Given the description of an element on the screen output the (x, y) to click on. 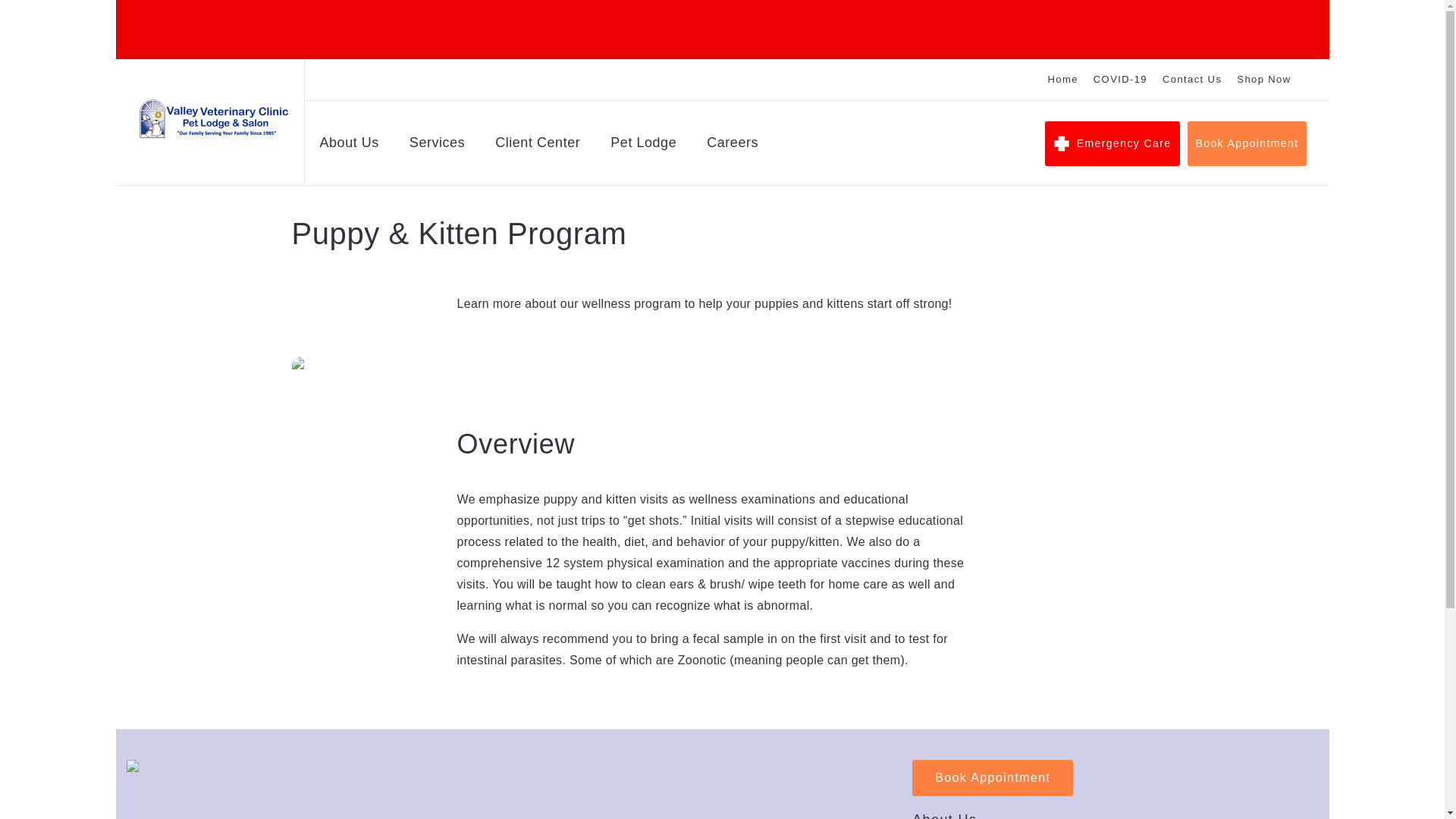
Contact Us (1191, 79)
COVID-19 (1120, 79)
Shop Now (1263, 79)
Pet Lodge (643, 145)
Home (1063, 79)
About Us (944, 816)
Book Appointment (992, 778)
Logo (213, 118)
Careers (732, 145)
Services (436, 145)
Client Center (537, 145)
Emergency Care (1112, 143)
Home (1063, 79)
Book Appointment (1247, 143)
COVID-19 (1120, 79)
